Given the description of an element on the screen output the (x, y) to click on. 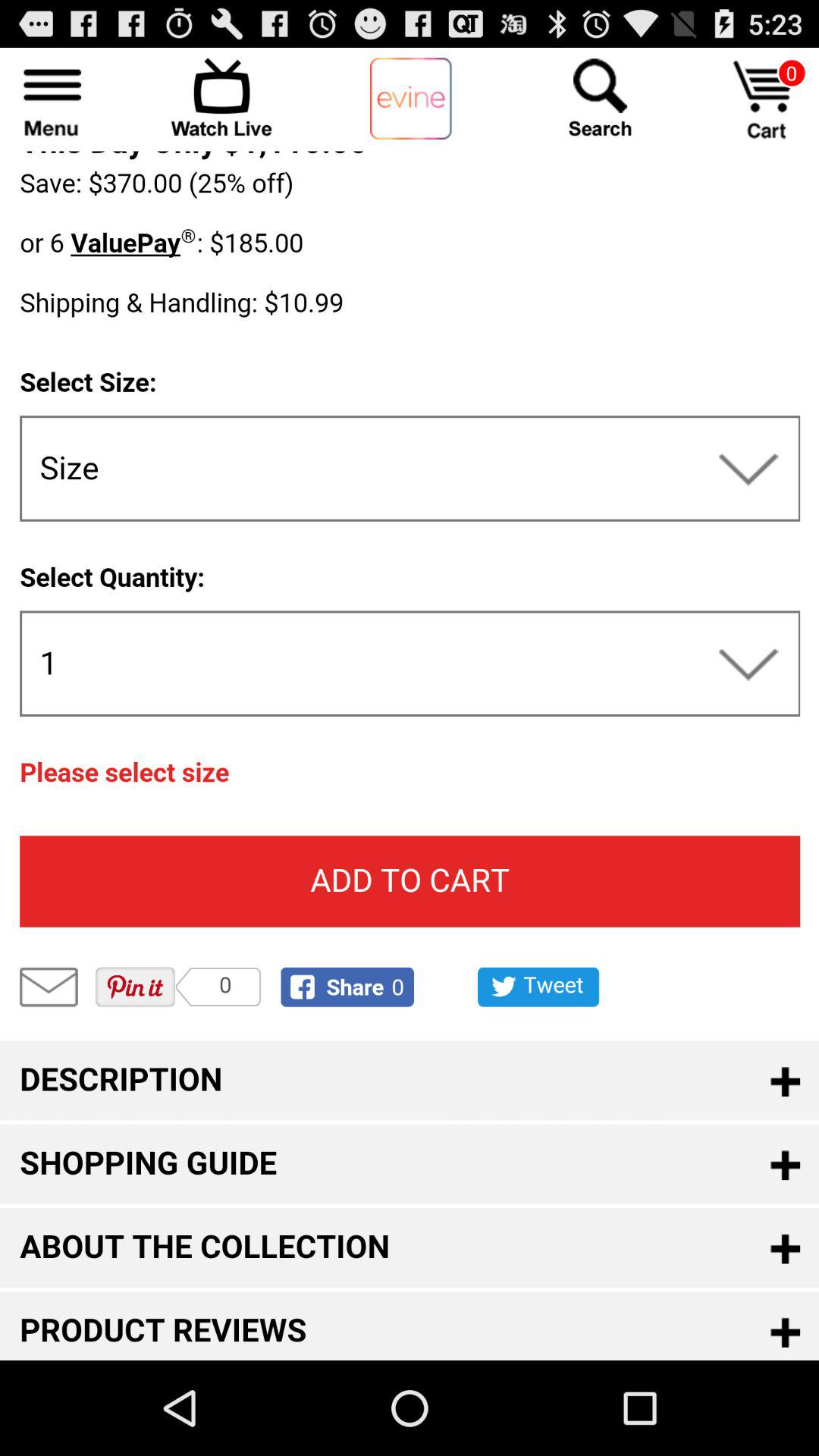
return to evine main page (410, 99)
